Given the description of an element on the screen output the (x, y) to click on. 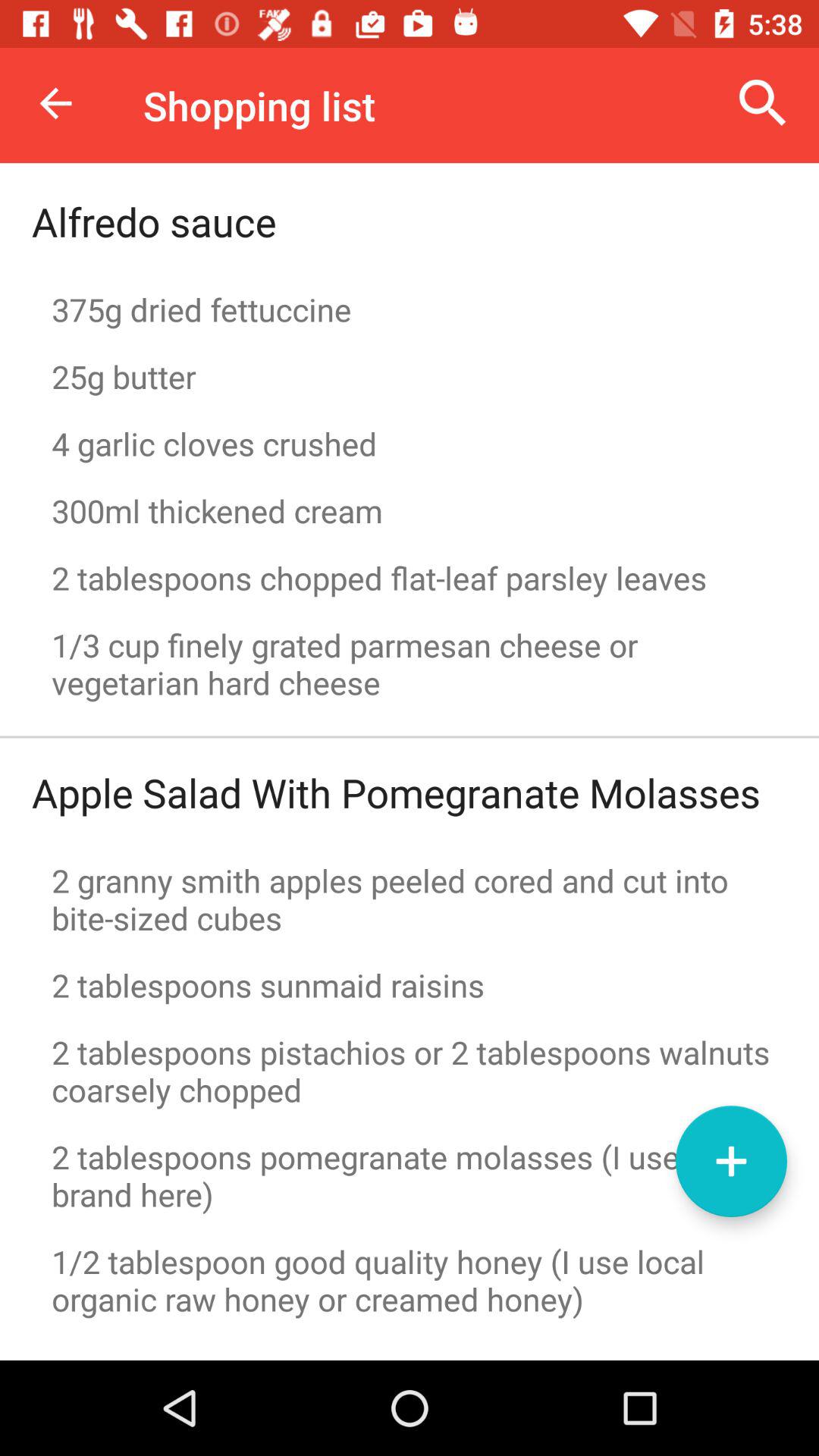
choose item above 2 tablespoons sunmaid icon (409, 898)
